Given the description of an element on the screen output the (x, y) to click on. 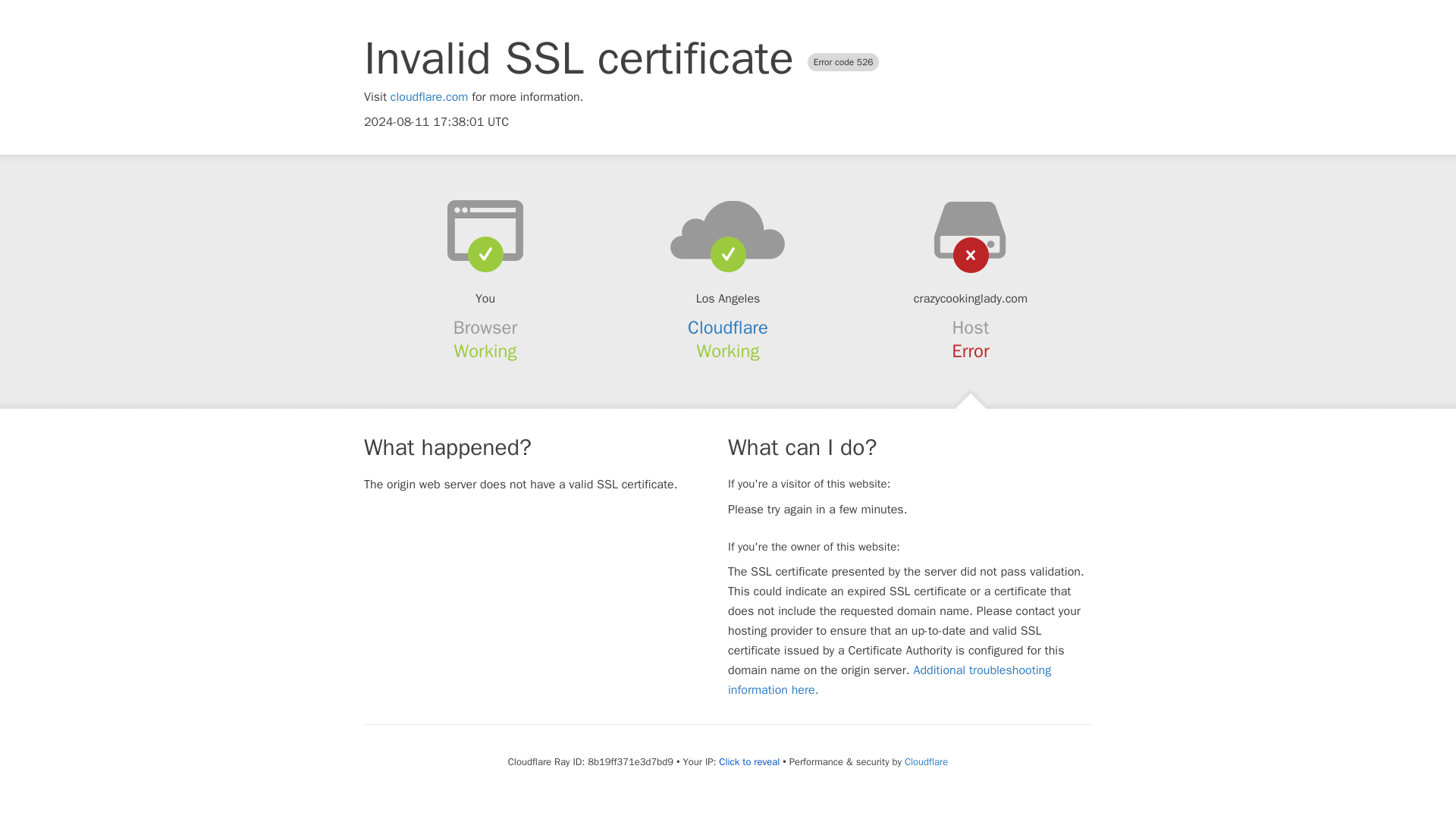
Additional troubleshooting information here. (889, 679)
Cloudflare (925, 761)
Cloudflare (727, 327)
cloudflare.com (429, 96)
Click to reveal (748, 762)
